Given the description of an element on the screen output the (x, y) to click on. 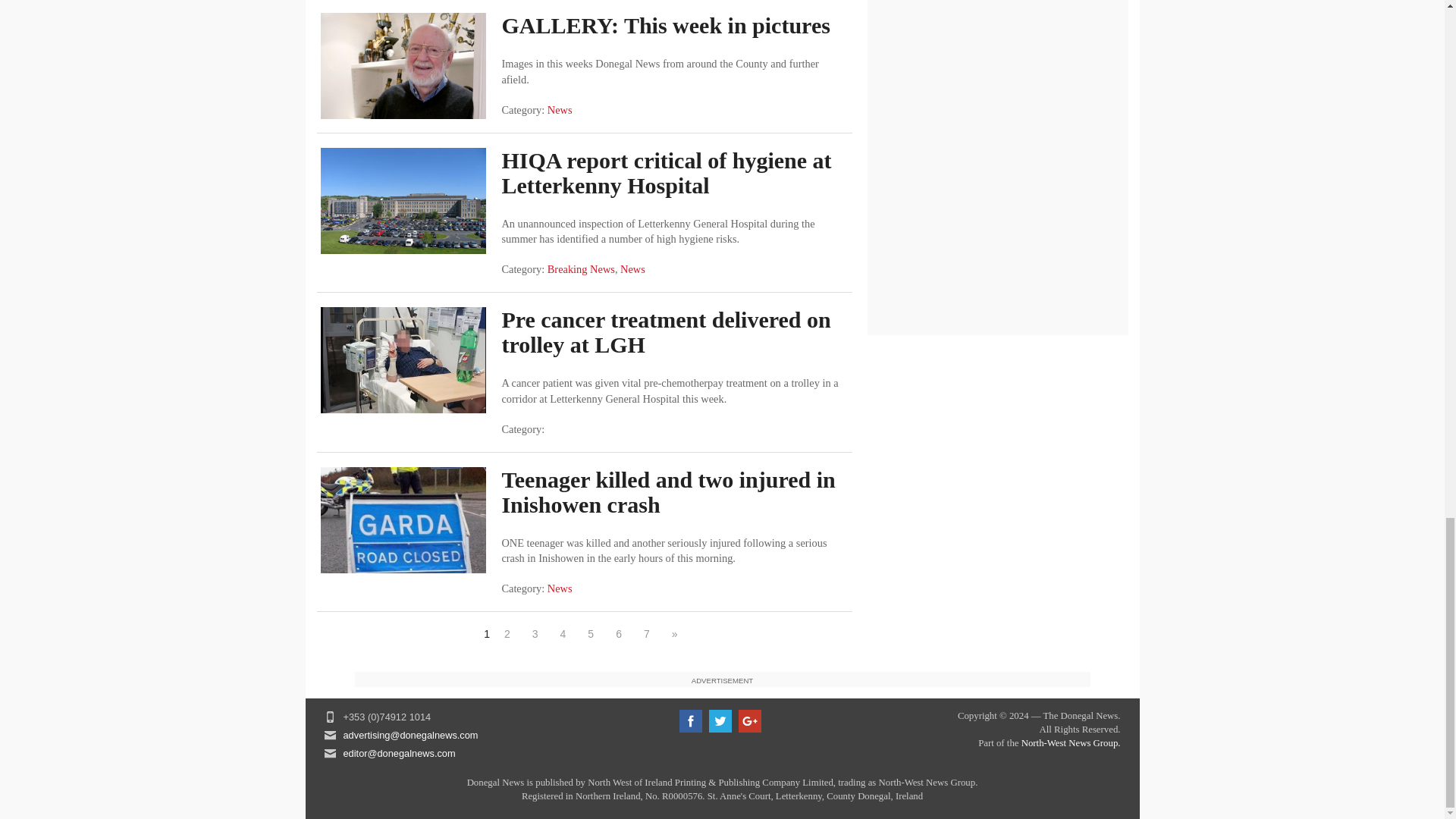
View all posts in News (559, 588)
View all posts in Breaking News (580, 268)
View all posts in News (632, 268)
View all posts in News (559, 110)
